Given the description of an element on the screen output the (x, y) to click on. 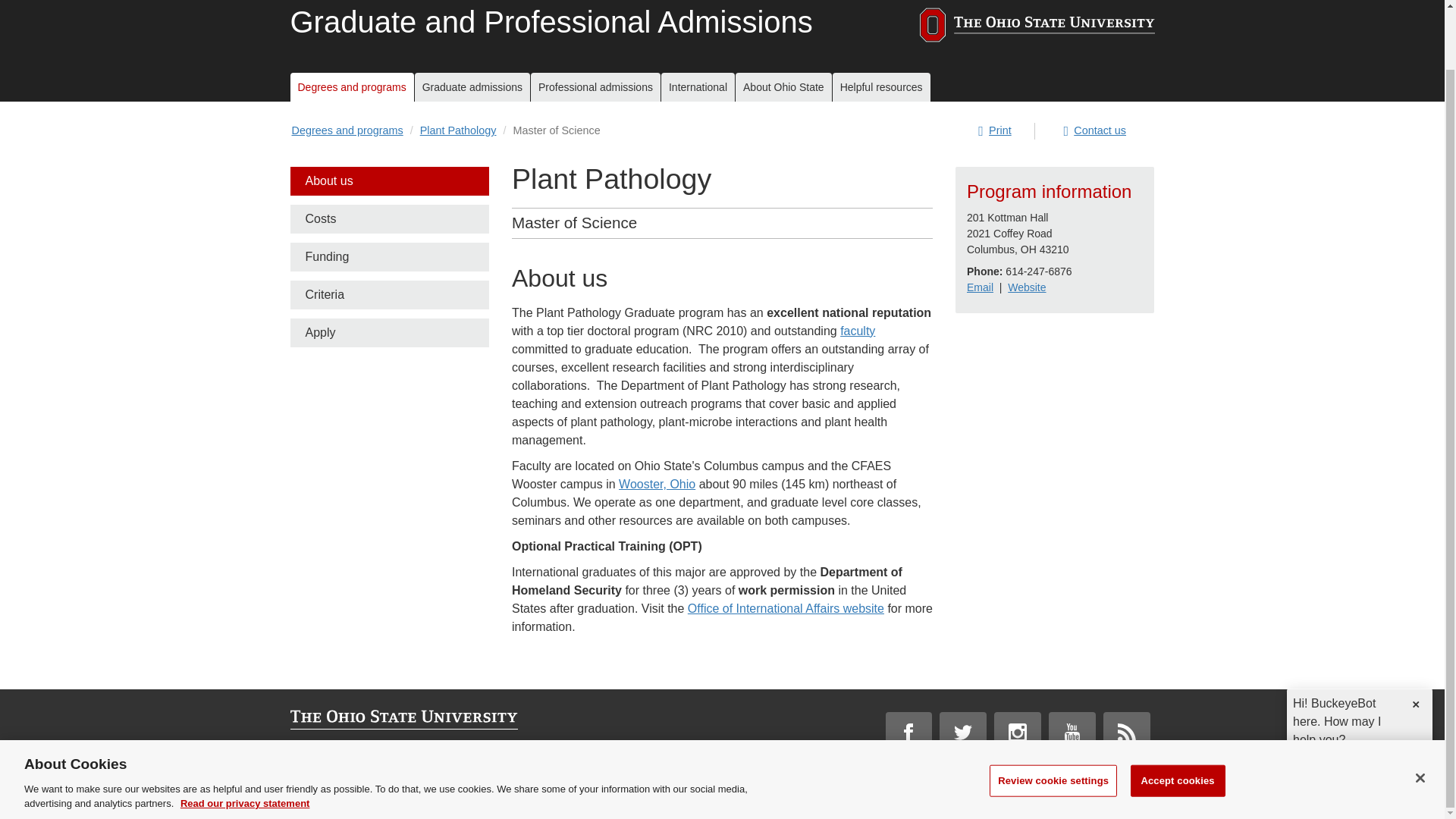
Degrees and programs (347, 130)
Contact us (1094, 130)
Degrees and programs (351, 87)
Facebook (908, 732)
Twitter (962, 732)
THE OHIO STATE UNIVERSITY (402, 719)
Print this page (995, 130)
YouTube (1071, 732)
THE OHIO STATE UNIVERSITY (1036, 24)
Instagram (1017, 732)
RSS (1126, 732)
THE OHIO STATE UNIVERSITY (1036, 26)
About Ohio State (783, 87)
Professional admissions (596, 87)
Graduate admissions (471, 87)
